Given the description of an element on the screen output the (x, y) to click on. 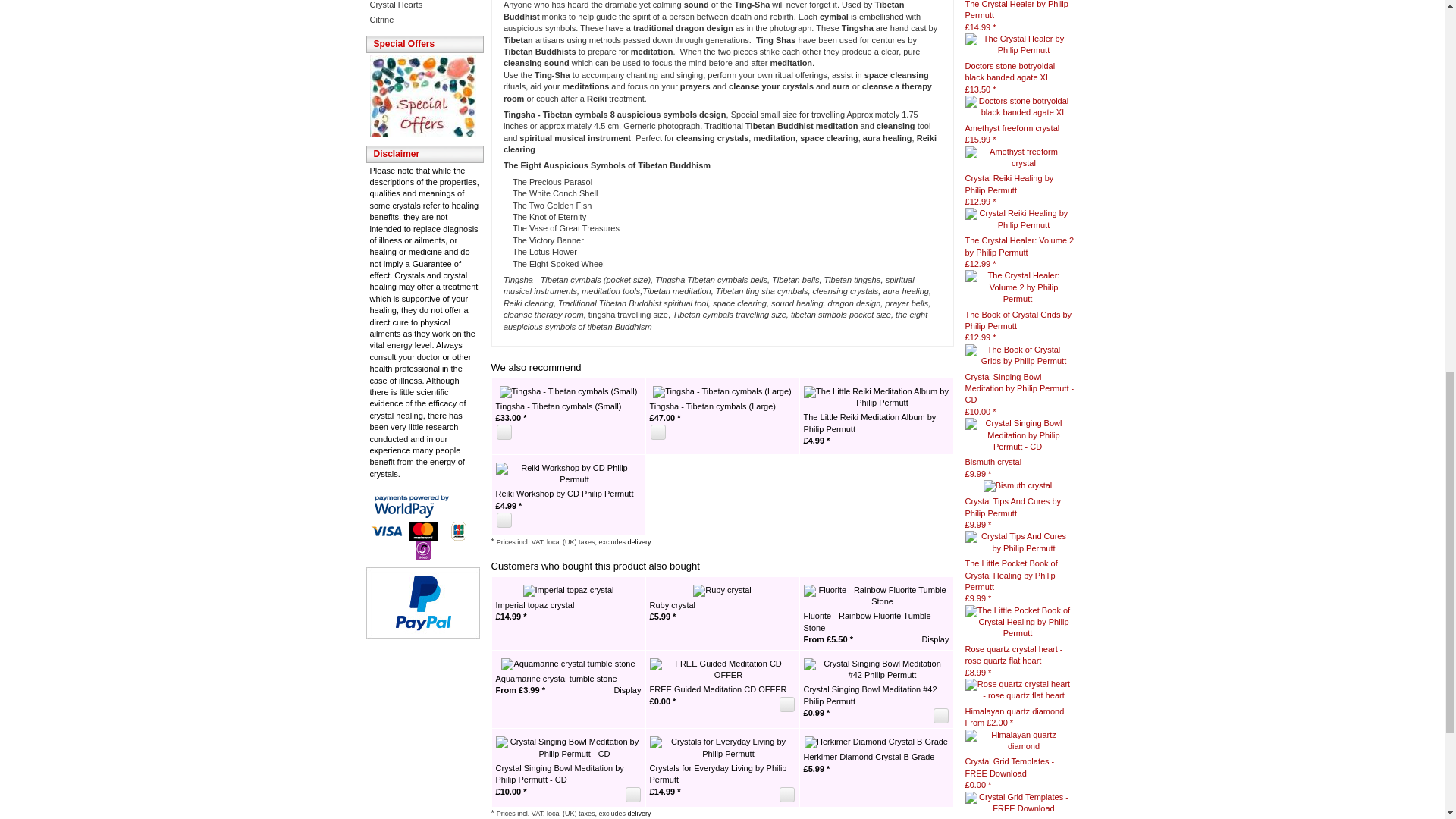
This shop supports payment using Solo. (422, 549)
This shop supports payment using Visa. (387, 530)
This shop supports payment using Mastercard. (423, 530)
Go to product (1016, 105)
Go to product (1016, 156)
This shop supports payment via PayPal. (423, 602)
Go to product (1016, 286)
Secure payment via  WorldPay (422, 505)
Go to product (1016, 43)
This shop supports payment using JCB. (459, 530)
